Given the description of an element on the screen output the (x, y) to click on. 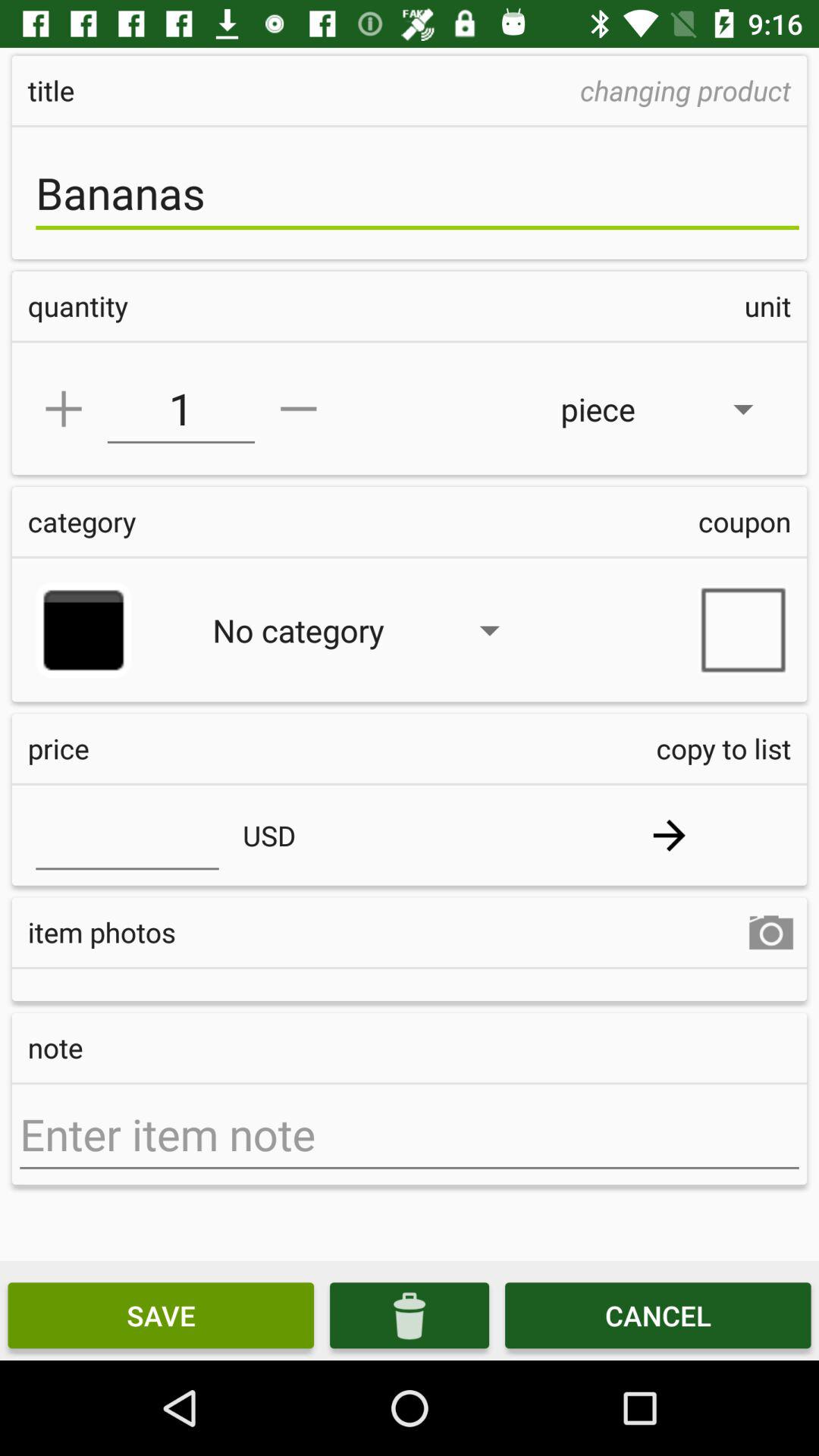
price usd (126, 835)
